Given the description of an element on the screen output the (x, y) to click on. 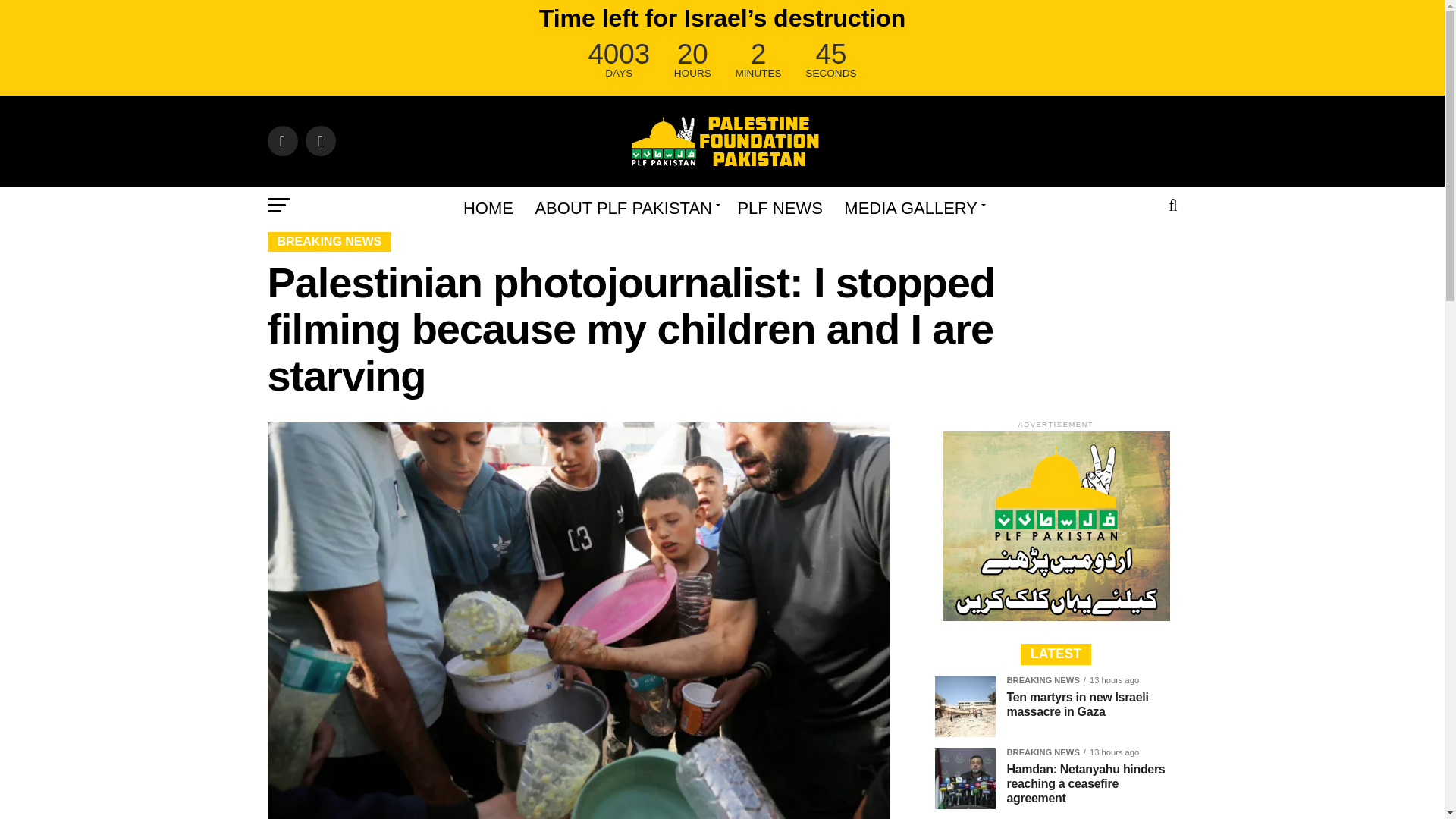
HOME (488, 208)
ABOUT PLF PAKISTAN (625, 208)
PLF NEWS (779, 208)
MEDIA GALLERY (912, 208)
